Given the description of an element on the screen output the (x, y) to click on. 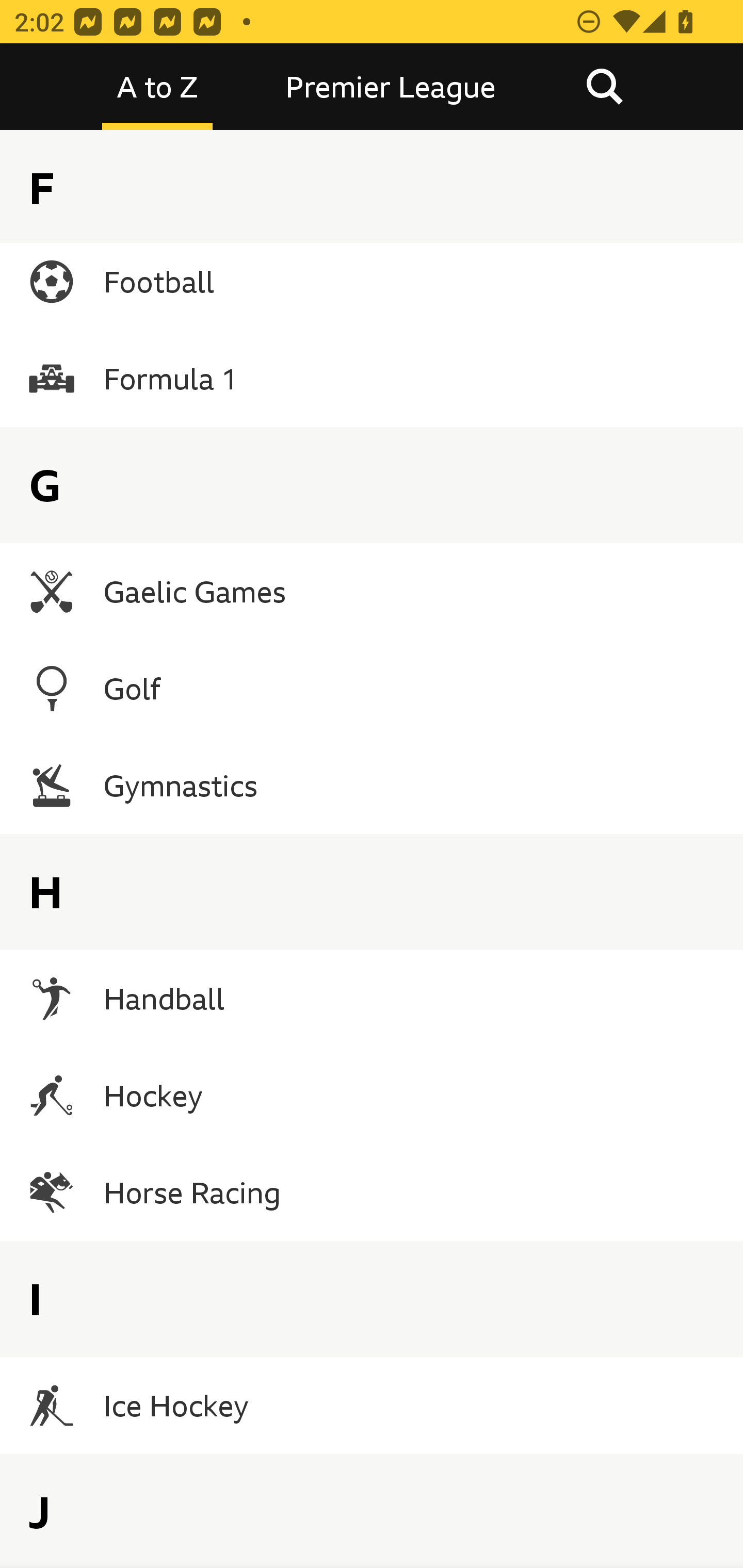
Premier League (390, 86)
Search (604, 86)
Fencing (371, 184)
Football (371, 281)
Formula 1 (371, 378)
Gaelic Games (371, 590)
Golf (371, 687)
Gymnastics (371, 785)
Handball (371, 998)
Hockey (371, 1095)
Horse Racing (371, 1192)
Ice Hockey (371, 1404)
